Given the description of an element on the screen output the (x, y) to click on. 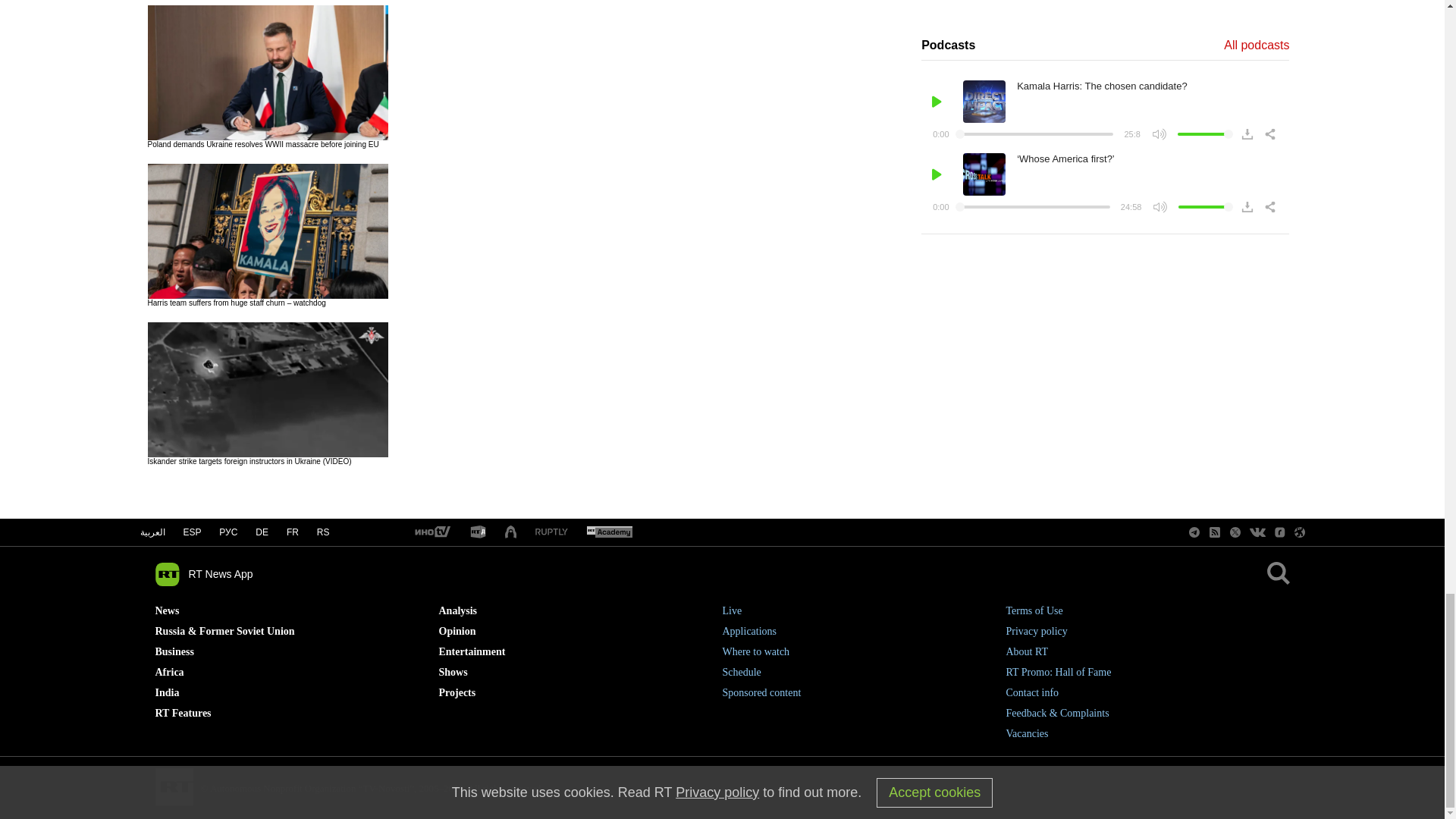
RT  (431, 532)
RT  (551, 532)
RT  (608, 532)
RT  (478, 532)
